Given the description of an element on the screen output the (x, y) to click on. 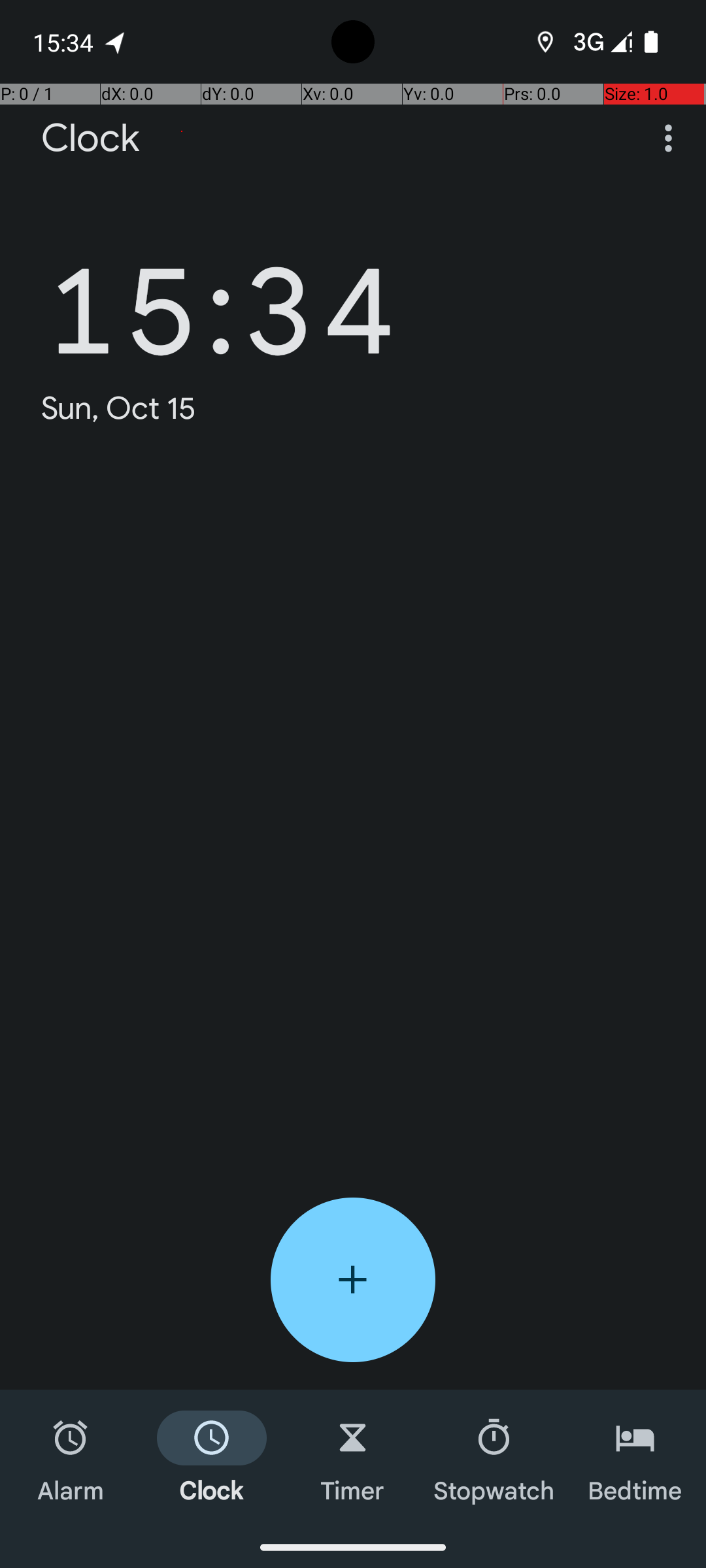
Add city Element type: android.widget.Button (352, 1279)
Sun, Oct 15 Element type: android.widget.TextView (118, 407)
